Given the description of an element on the screen output the (x, y) to click on. 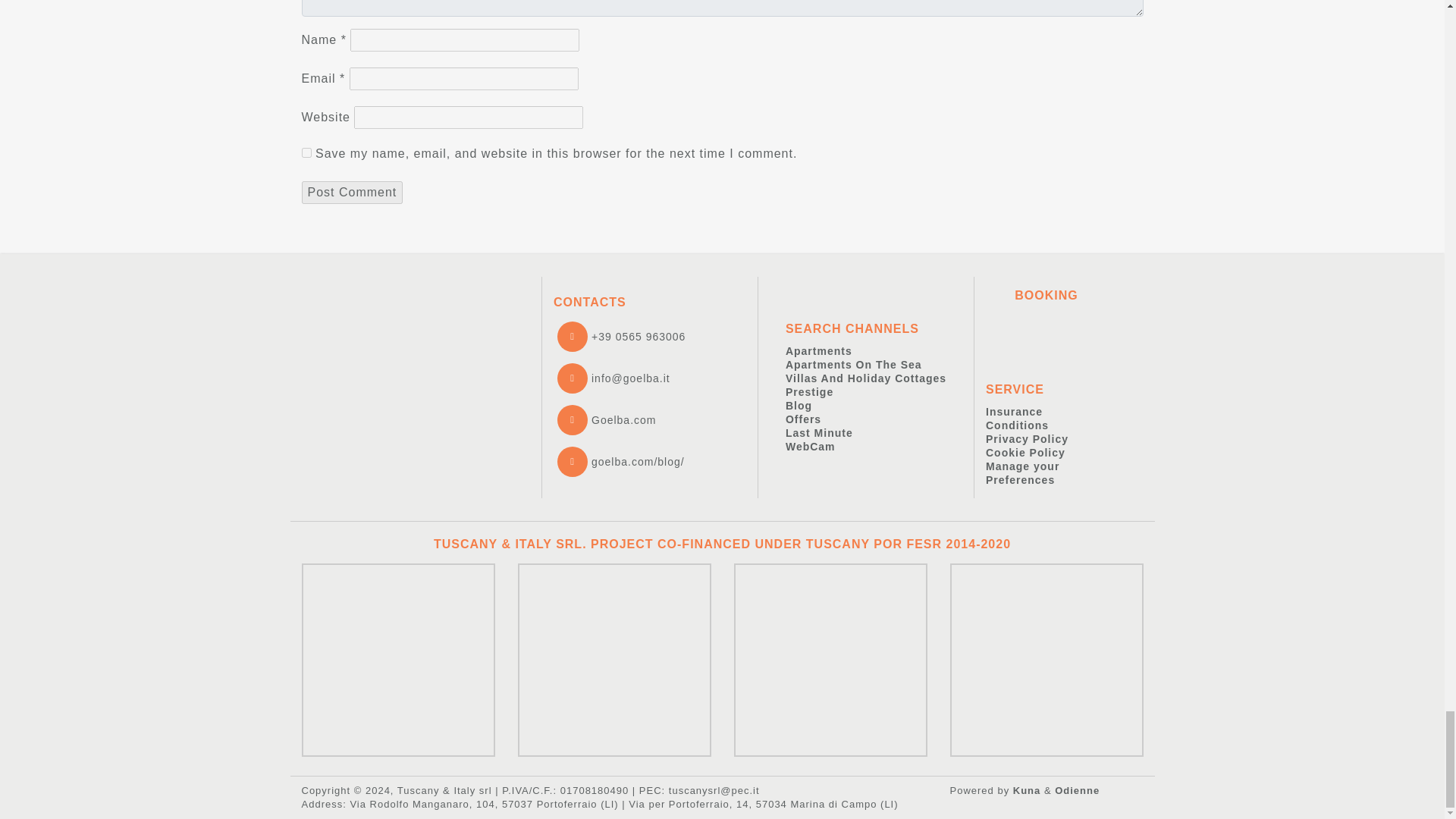
yes (306, 153)
Post Comment (352, 191)
Facebook (606, 419)
Email (613, 378)
Telefono (620, 336)
